Given the description of an element on the screen output the (x, y) to click on. 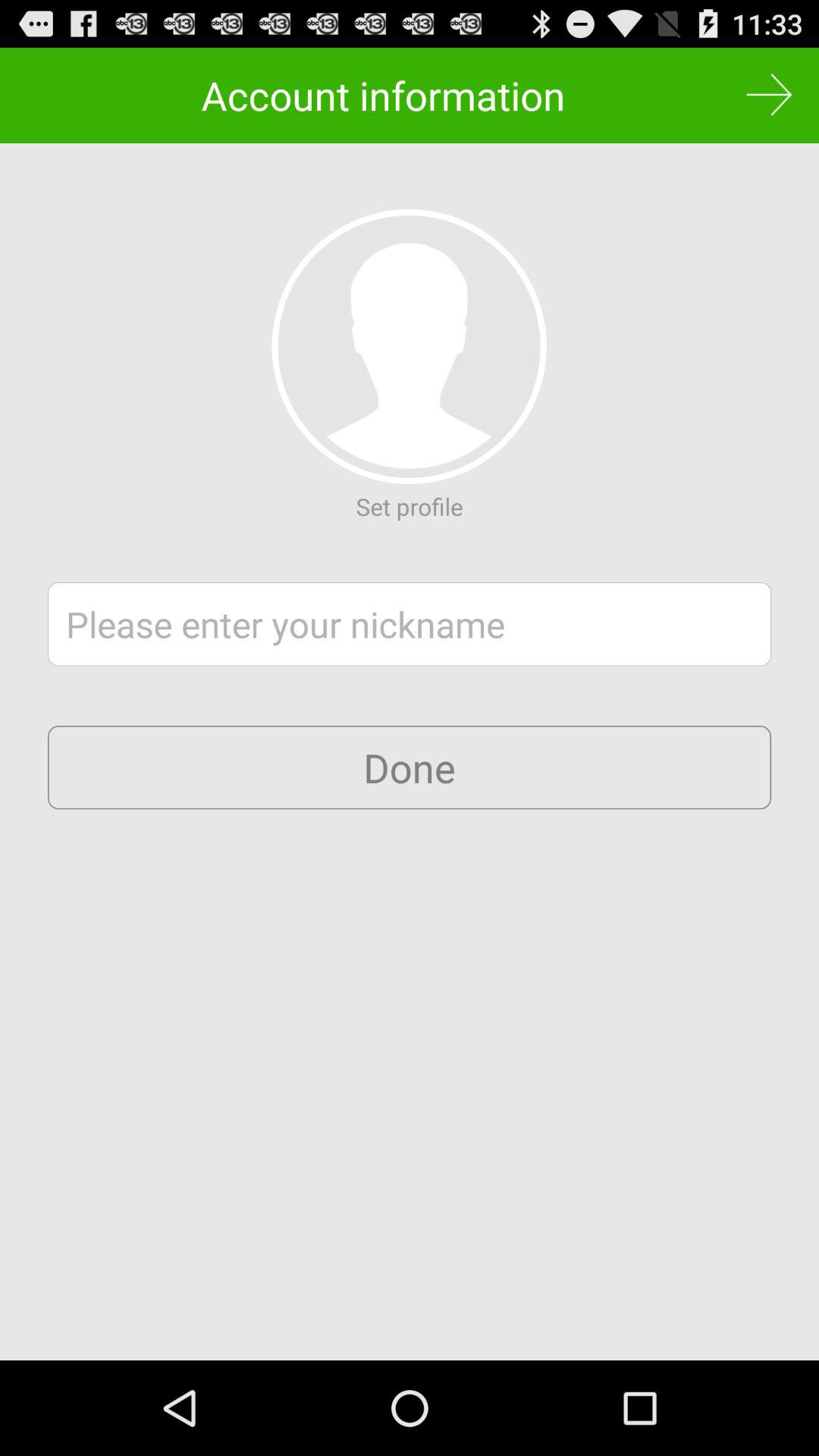
press done button (409, 767)
